Given the description of an element on the screen output the (x, y) to click on. 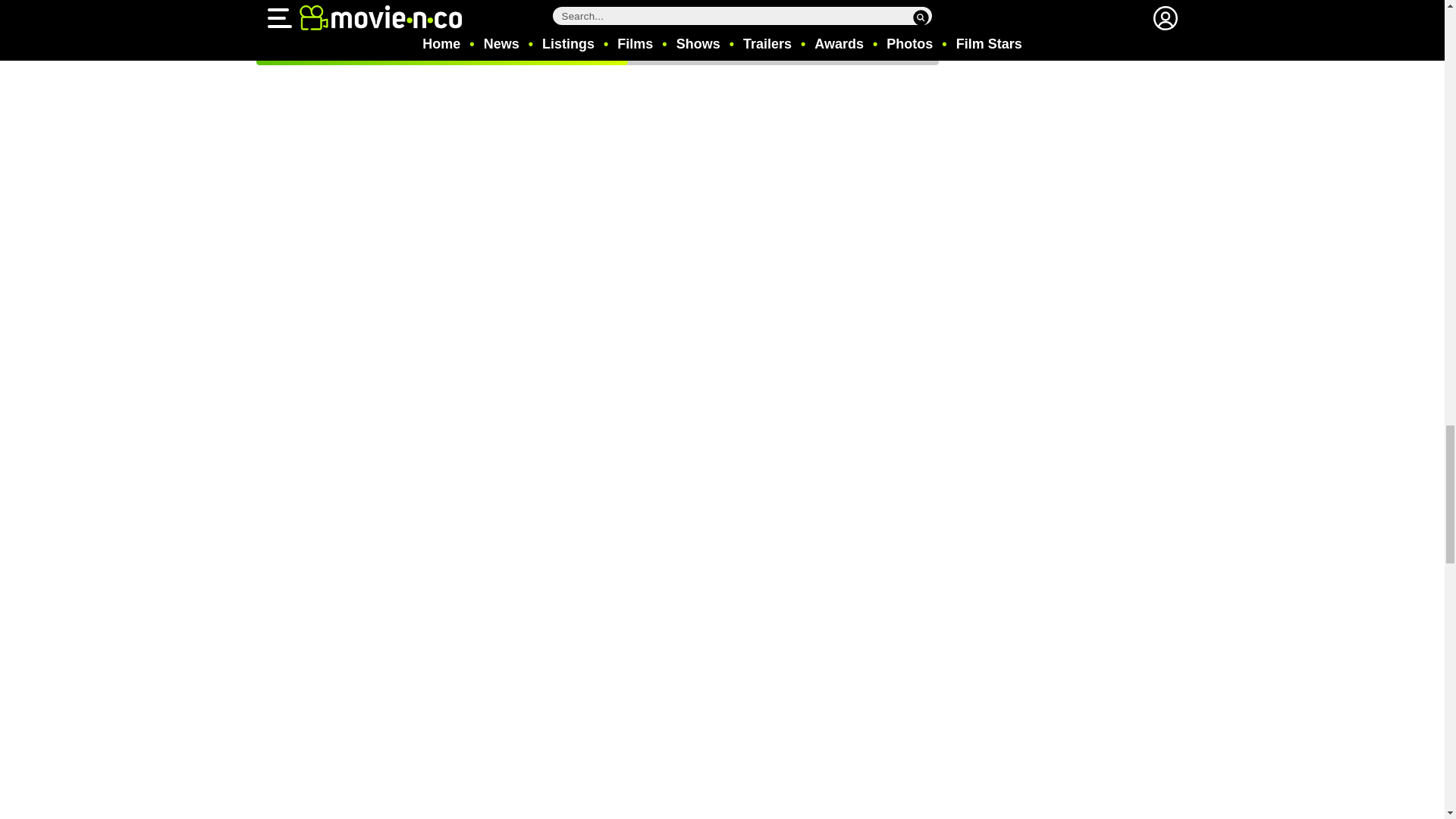
The Hunger Games: Catching Fire (313, 28)
